Given the description of an element on the screen output the (x, y) to click on. 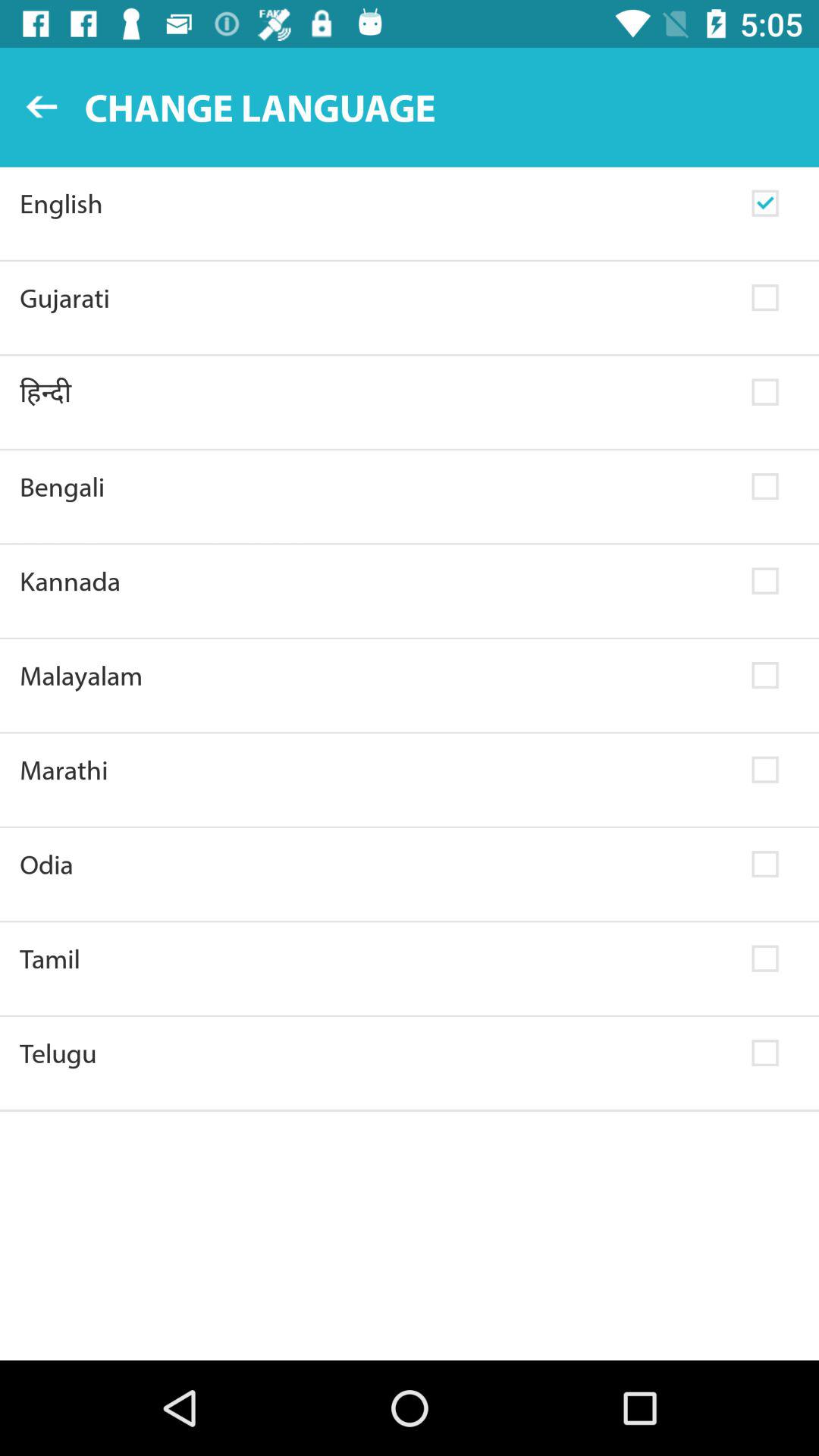
jump until odia (375, 864)
